Given the description of an element on the screen output the (x, y) to click on. 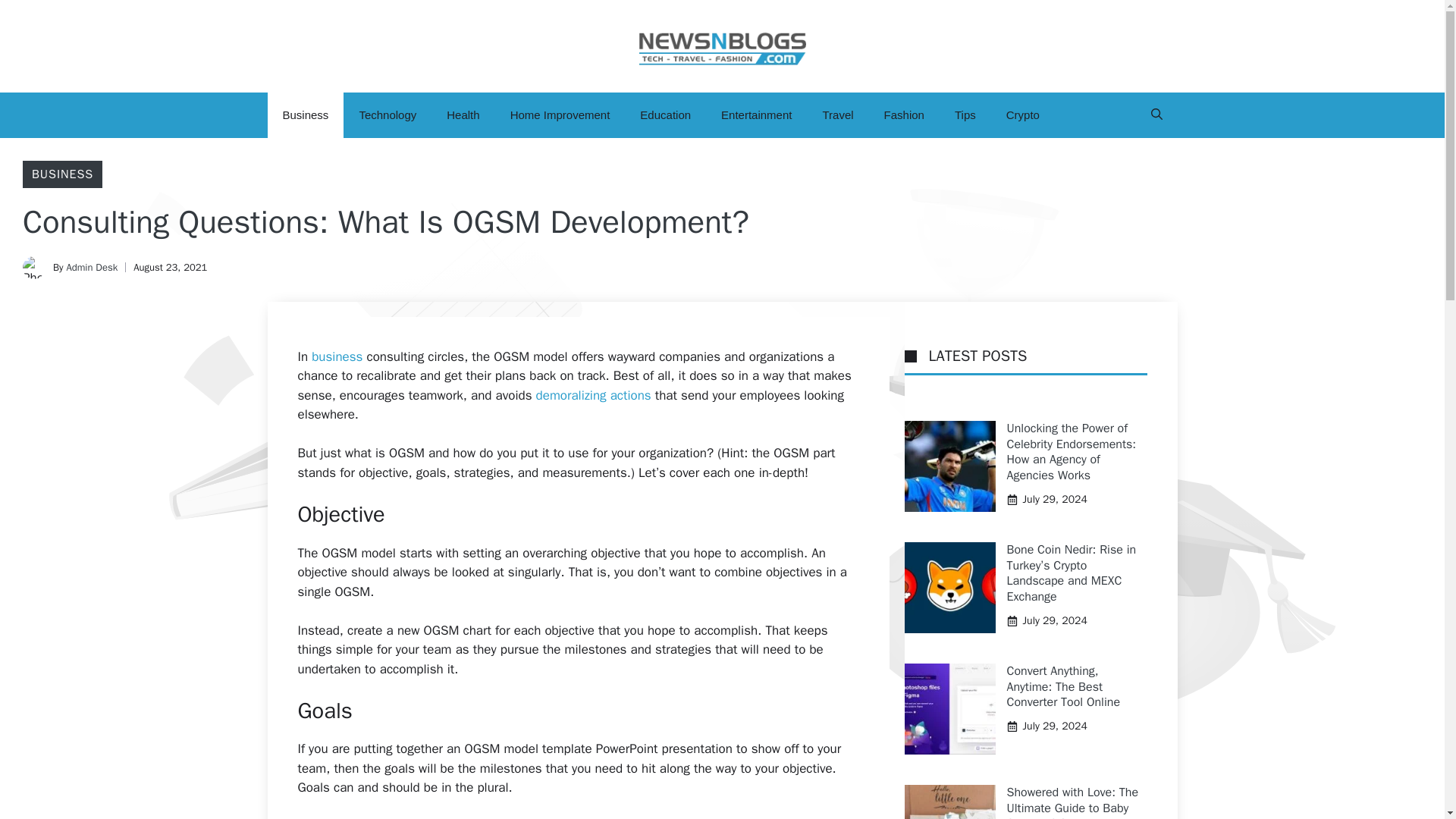
Tips (965, 115)
Travel (836, 115)
Fashion (904, 115)
Business (304, 115)
Health (462, 115)
Showered with Love: The Ultimate Guide to Baby Shower Gifts (1072, 801)
demoralizing actions (592, 395)
BUSINESS (62, 174)
Technology (386, 115)
Entertainment (756, 115)
Education (665, 115)
Admin Desk (91, 267)
Convert Anything, Anytime: The Best Converter Tool Online (1064, 686)
business (336, 356)
